Given the description of an element on the screen output the (x, y) to click on. 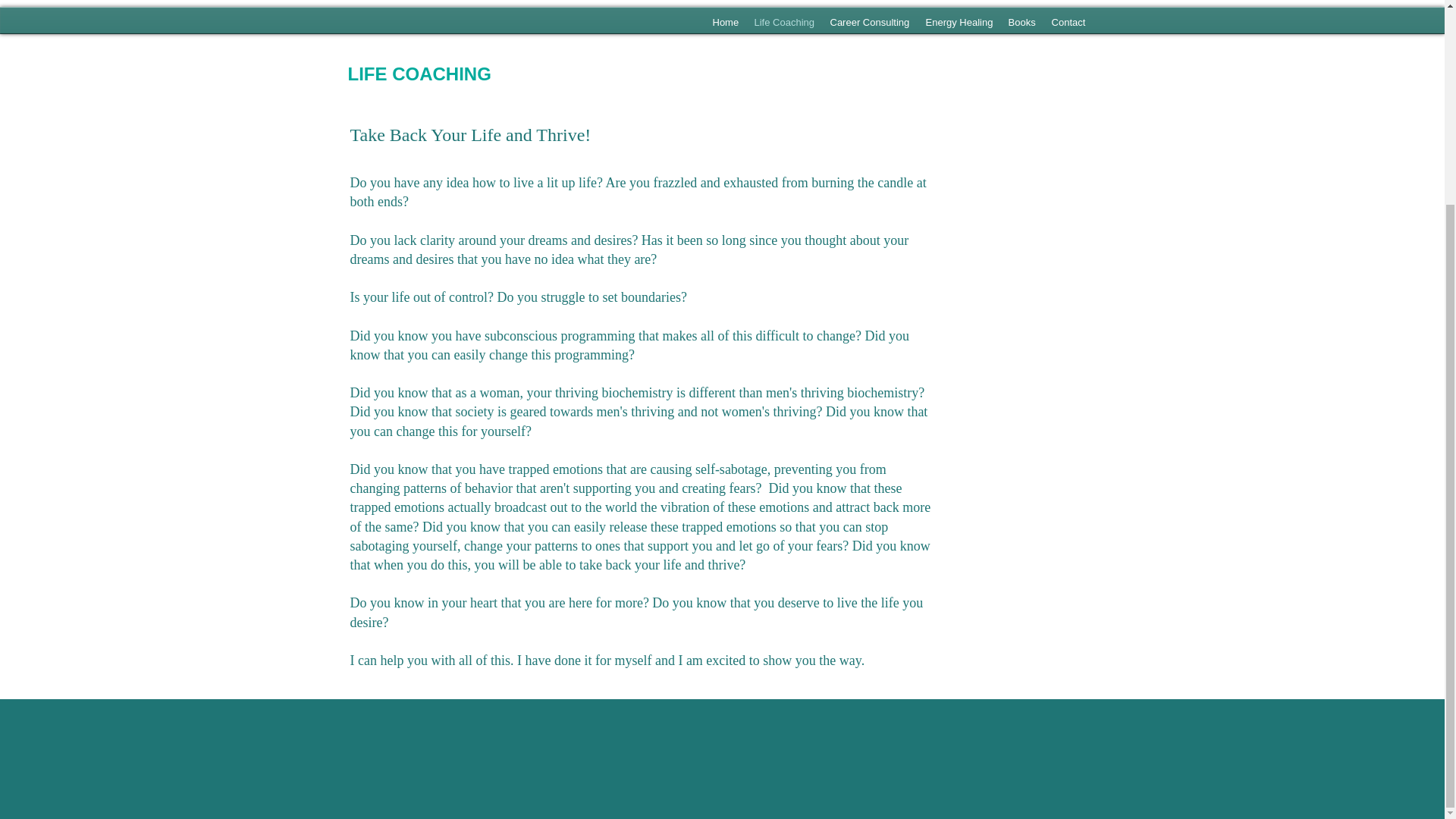
Contact (1068, 22)
Energy Healing (958, 22)
Books (1020, 22)
Home (724, 22)
Life Coaching (783, 22)
Career Consulting (869, 22)
